Given the description of an element on the screen output the (x, y) to click on. 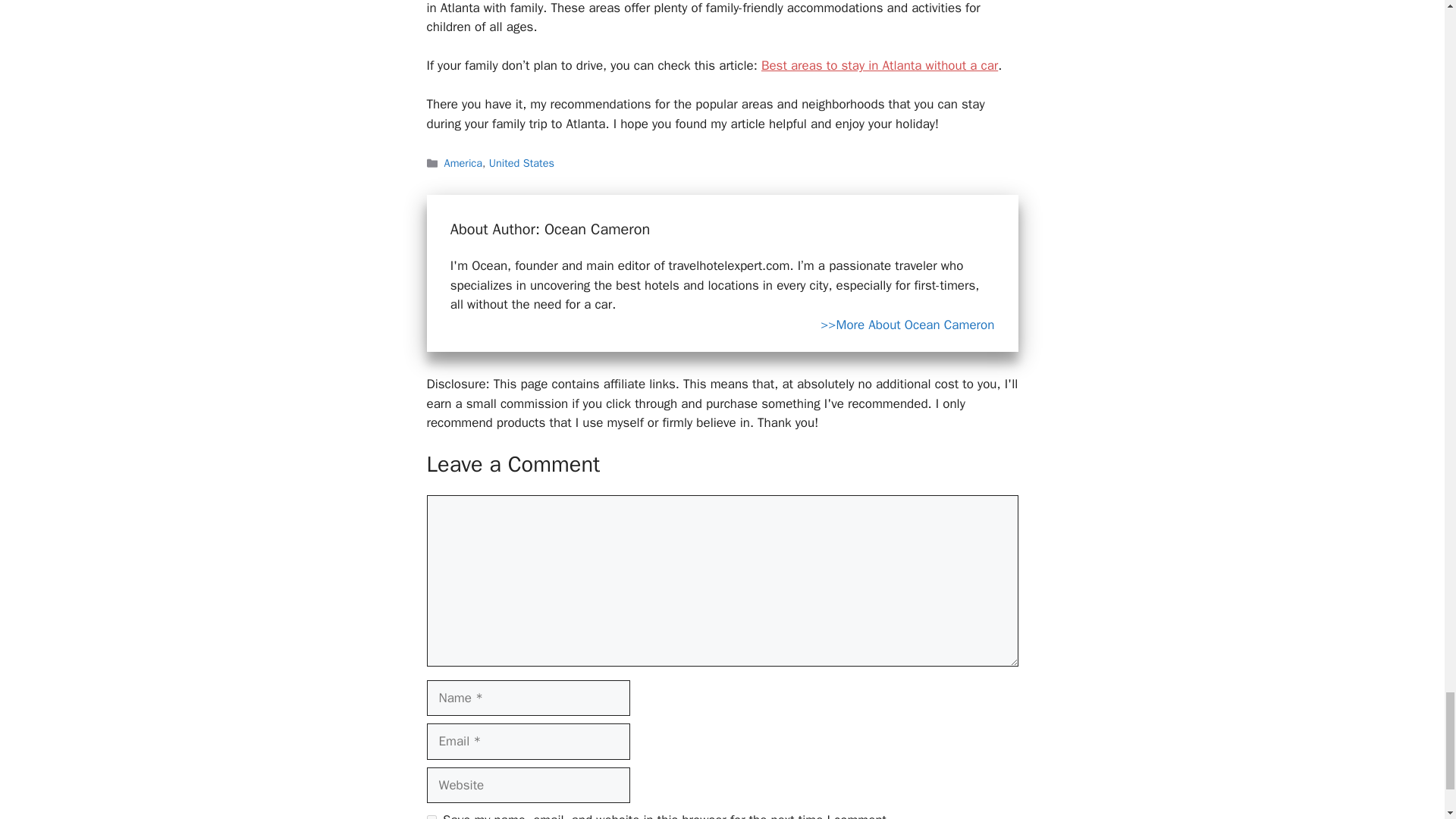
yes (430, 816)
Best areas to stay in Atlanta without a car (879, 65)
America (462, 162)
Read more (907, 325)
